Given the description of an element on the screen output the (x, y) to click on. 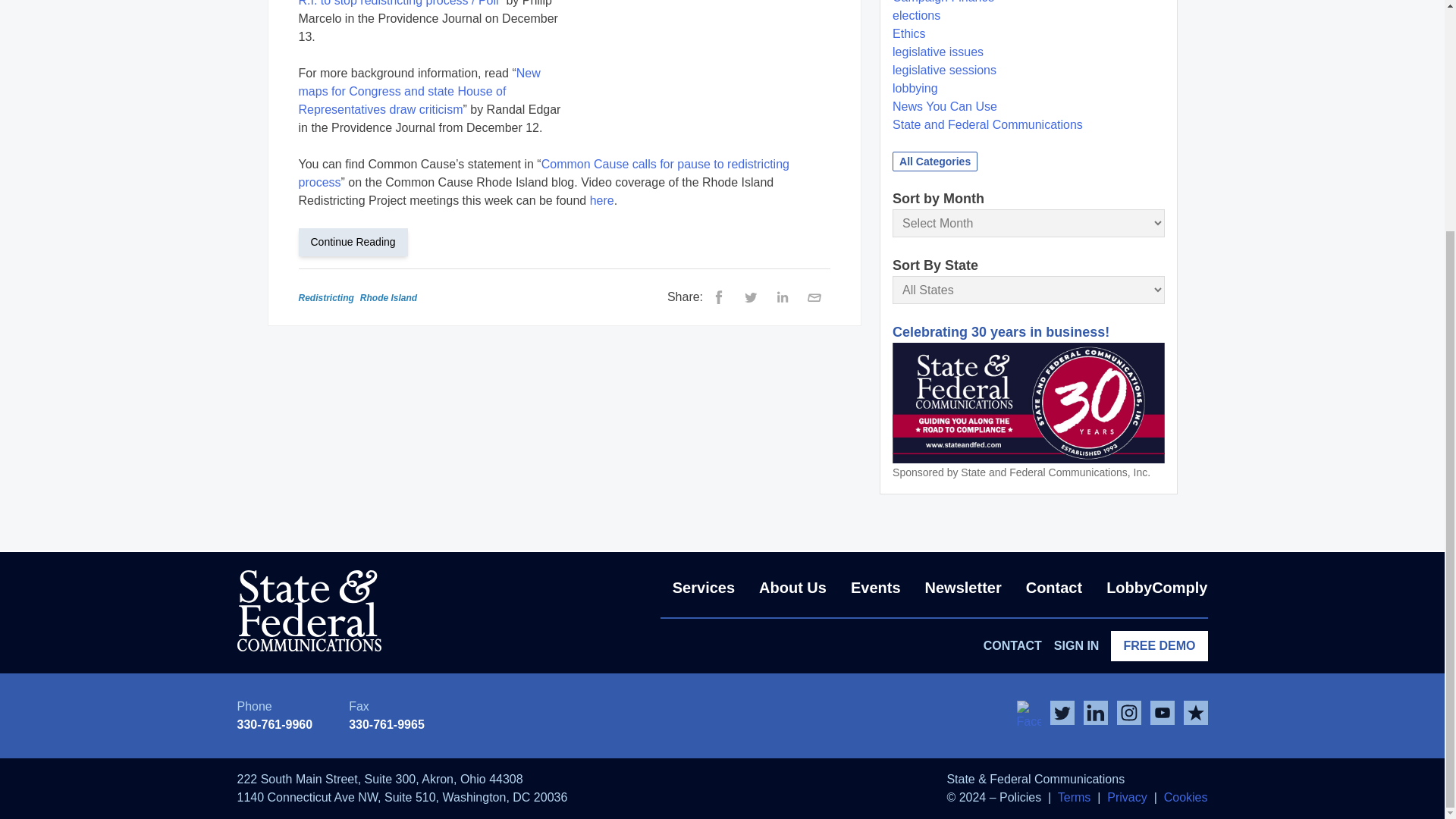
here (601, 200)
Common Cause calls for pause to redistricting process (543, 173)
Rhode Island (708, 58)
Redistricting (325, 297)
Rhode Island (387, 297)
Continue Reading (359, 241)
Campaign Finance (943, 2)
elections (916, 15)
